Given the description of an element on the screen output the (x, y) to click on. 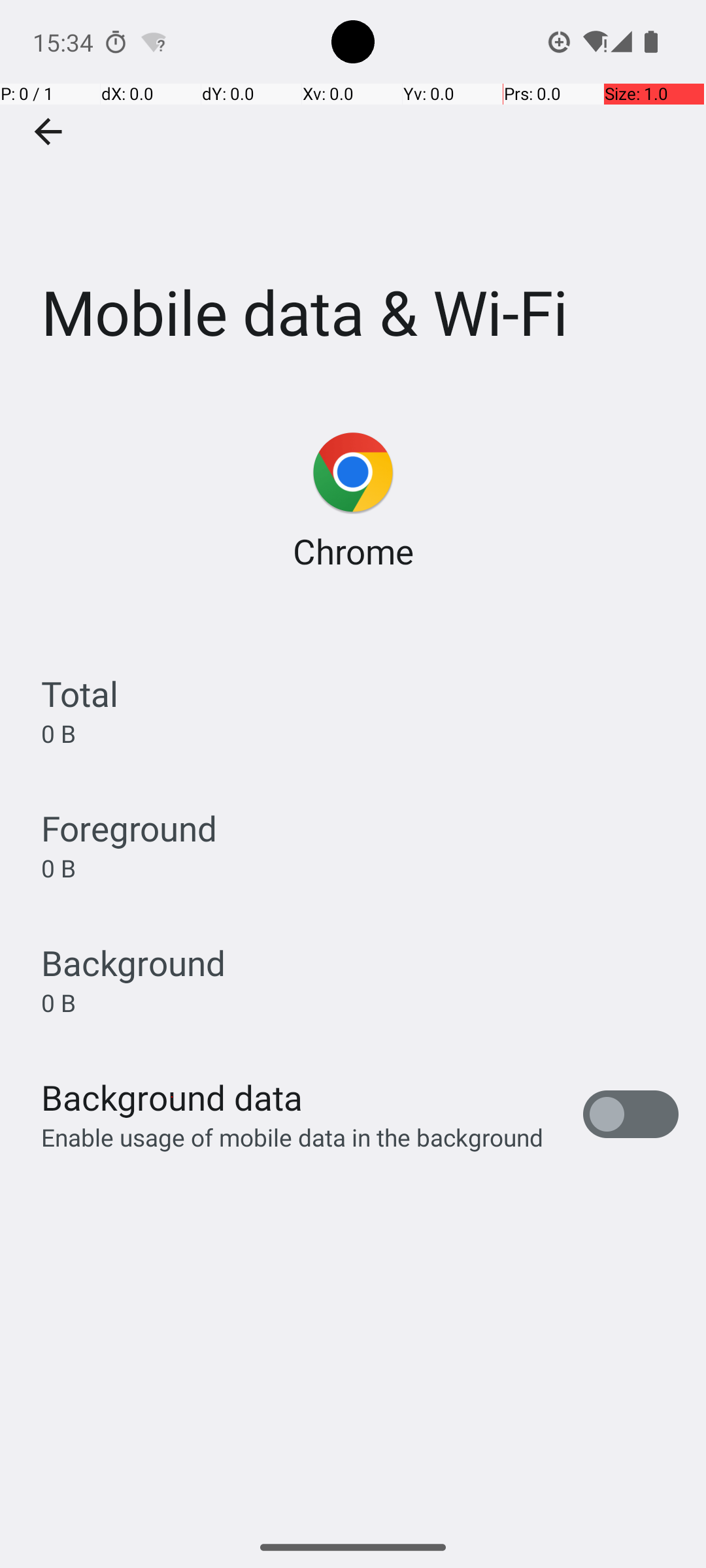
Background data Element type: android.widget.TextView (171, 1097)
Enable usage of mobile data in the background Element type: android.widget.TextView (292, 1136)
